Given the description of an element on the screen output the (x, y) to click on. 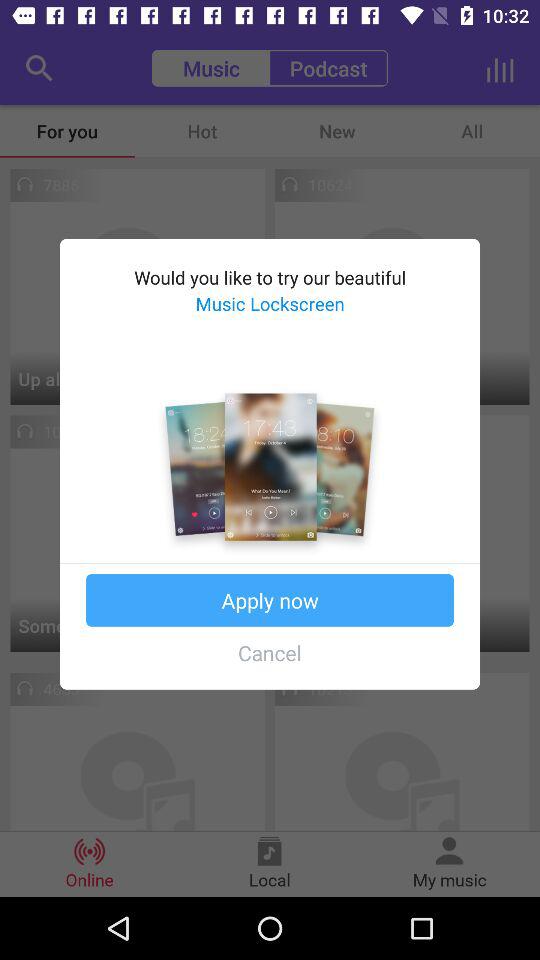
press apply now item (269, 600)
